Given the description of an element on the screen output the (x, y) to click on. 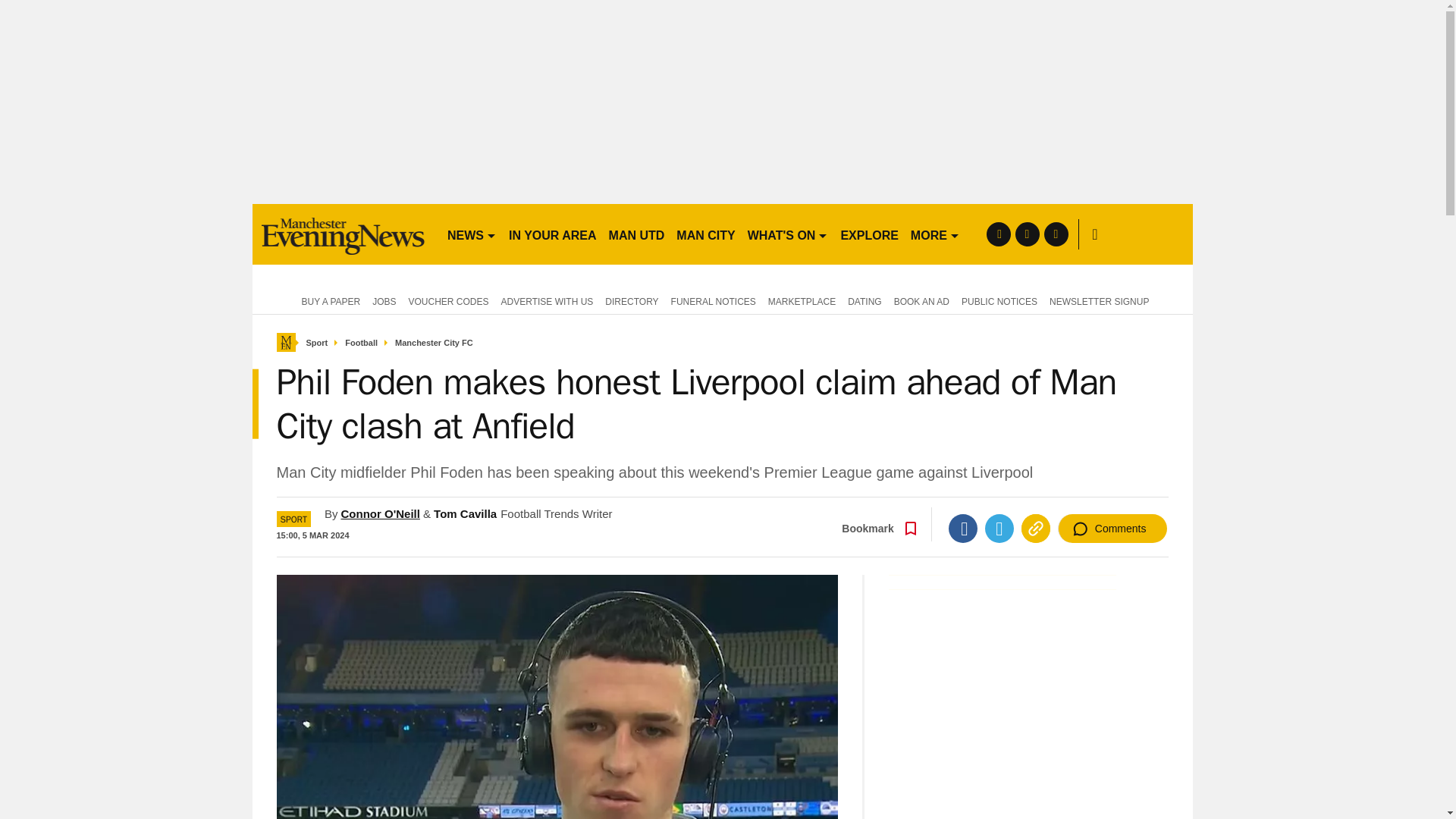
IN YOUR AREA (552, 233)
Facebook (962, 528)
WHAT'S ON (787, 233)
Comments (1112, 528)
men (342, 233)
MAN CITY (705, 233)
instagram (1055, 233)
MAN UTD (636, 233)
facebook (997, 233)
twitter (1026, 233)
Twitter (999, 528)
NEWS (471, 233)
